Given the description of an element on the screen output the (x, y) to click on. 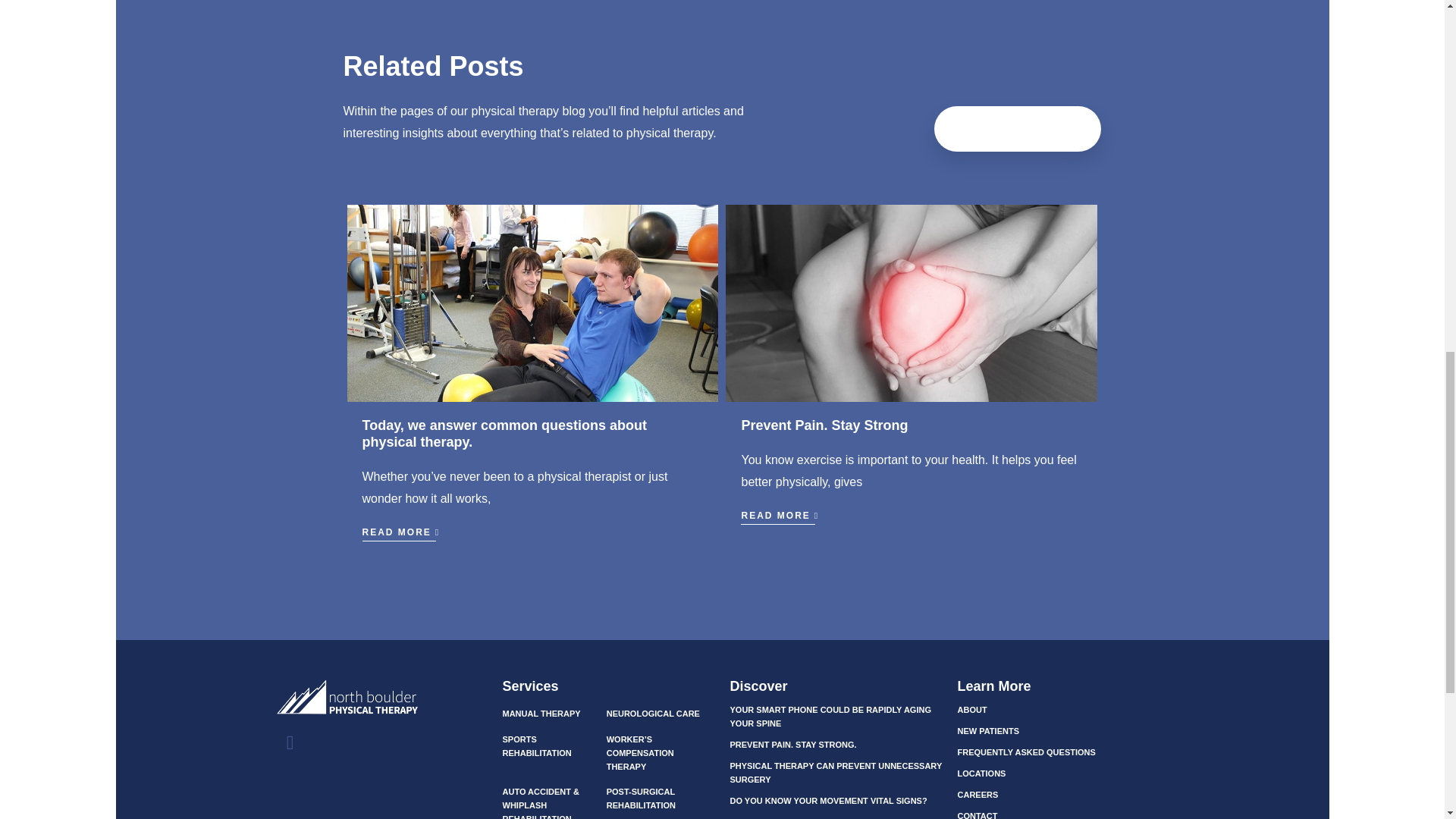
Prevent Pain. Stay Strong (824, 425)
North Boulder Physical Therapy (380, 703)
Today, we answer common questions about physical therapy. (504, 433)
